Given the description of an element on the screen output the (x, y) to click on. 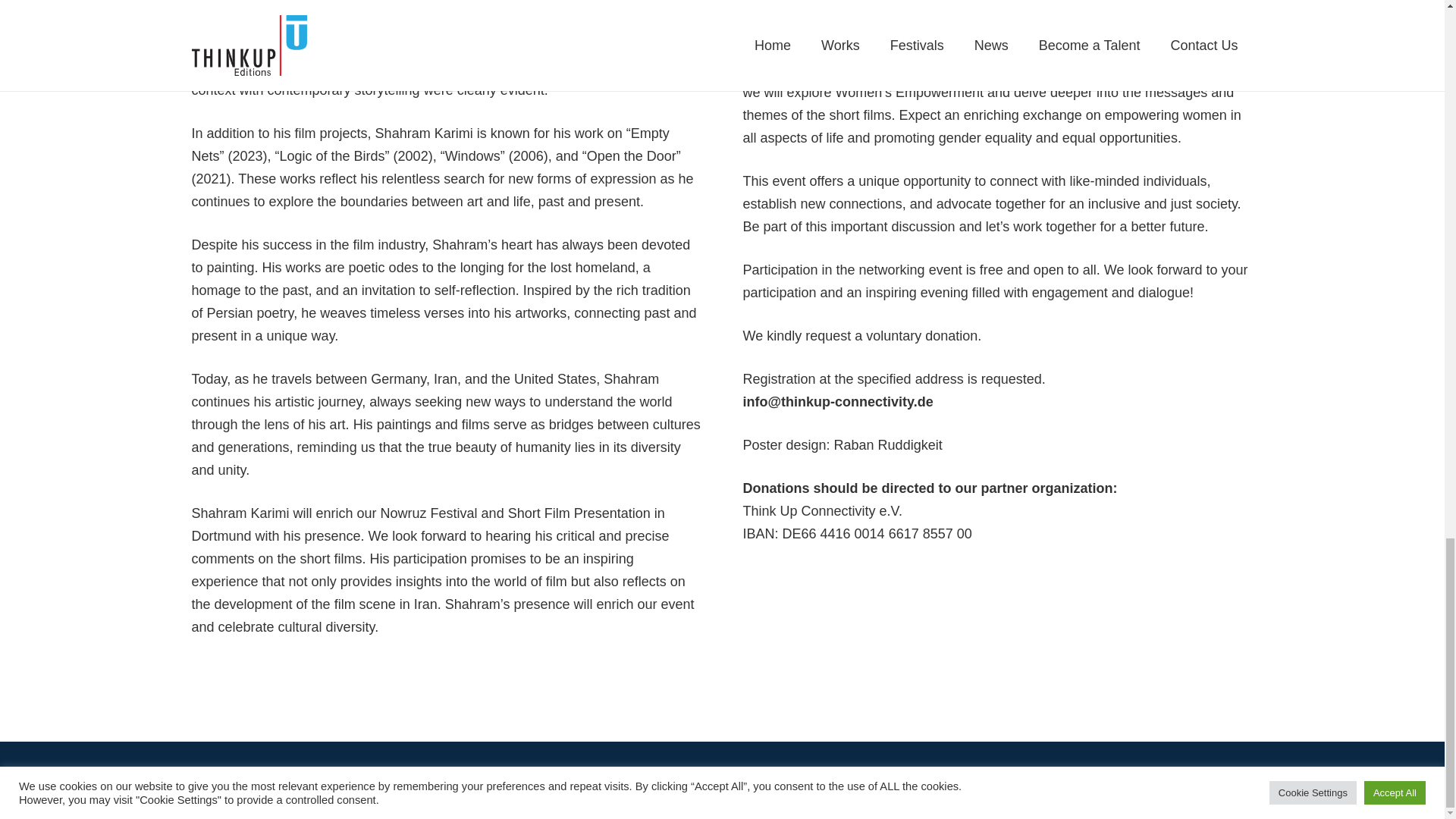
Hossein Mohammadi Vahidi (1048, 779)
